Given the description of an element on the screen output the (x, y) to click on. 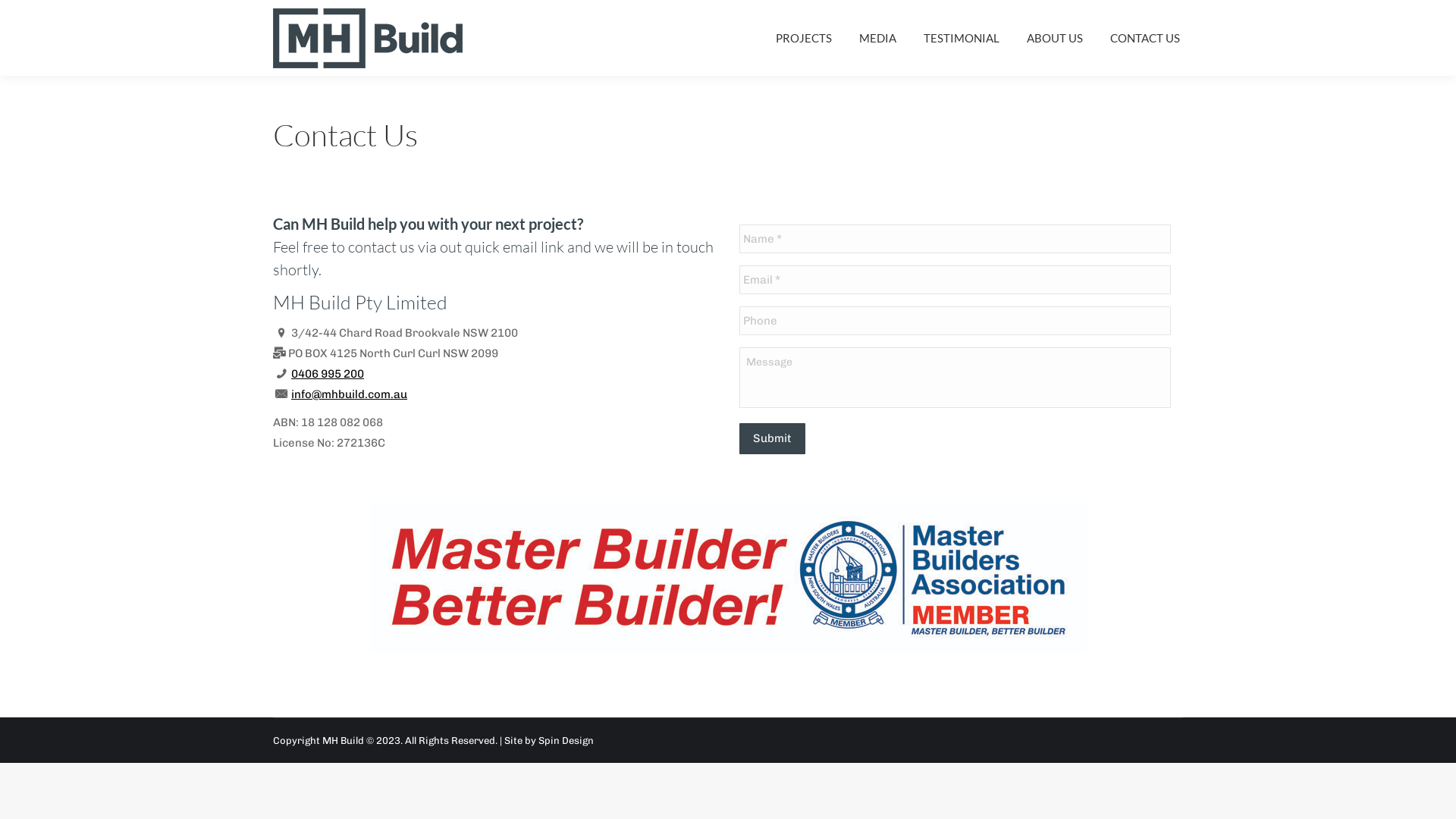
ABOUT US Element type: text (1054, 37)
MEDIA Element type: text (877, 37)
CONTACT US Element type: text (1145, 37)
TESTIMONIAL Element type: text (961, 37)
info@mhbuild.com.au Element type: text (349, 394)
PROJECTS Element type: text (803, 37)
0406 995 200 Element type: text (327, 373)
Spin Design Element type: text (565, 740)
Submit Element type: text (772, 438)
